Given the description of an element on the screen output the (x, y) to click on. 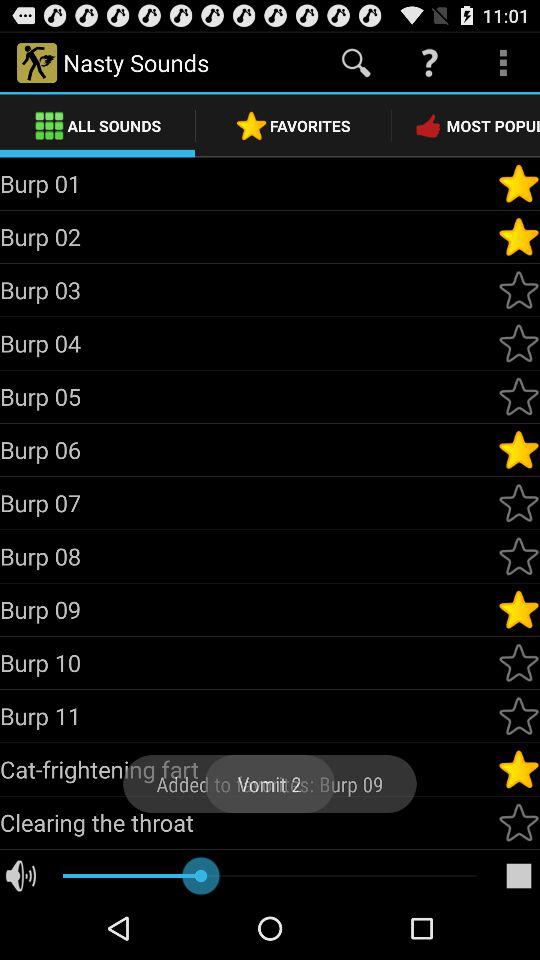
a place to deselect the burp 01 file 's gold star (519, 183)
